Given the description of an element on the screen output the (x, y) to click on. 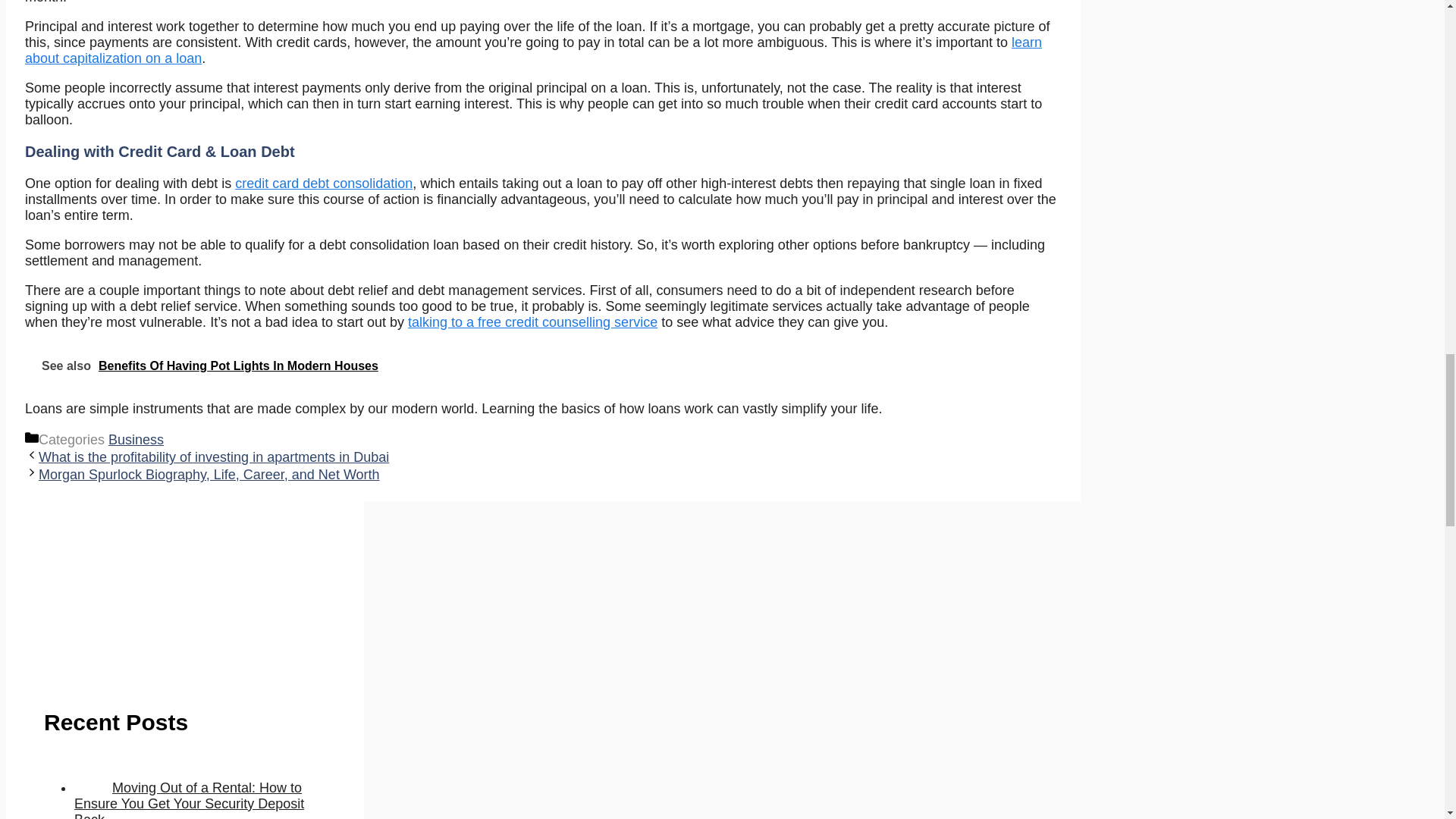
learn about capitalization on a loan (533, 50)
talking to a free credit counselling service (532, 322)
credit card debt consolidation (323, 183)
See also  Benefits Of Having Pot Lights In Modern Houses (544, 365)
Morgan Spurlock Biography, Life, Career, and Net Worth (209, 474)
Business (135, 439)
